Given the description of an element on the screen output the (x, y) to click on. 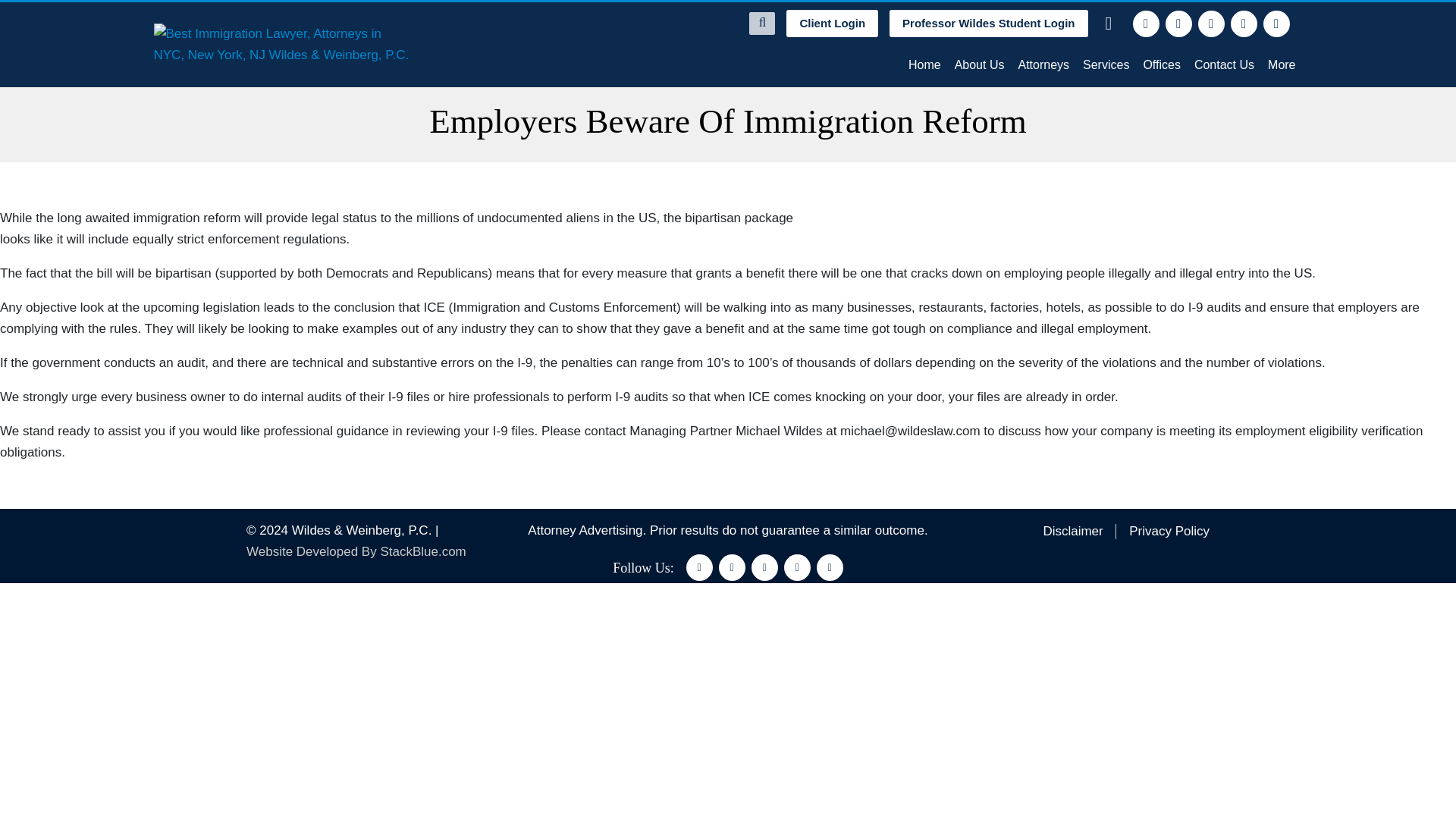
Client Login (831, 22)
Attorneys (1042, 64)
twitter (732, 567)
Professor Wildes Student Login (988, 22)
facebook (1145, 23)
linkedin (1211, 23)
youtube (1276, 23)
About Us (979, 64)
linkedin (764, 567)
Home (924, 64)
instagram (797, 567)
youtube (829, 567)
twitter (1177, 23)
facebook (699, 567)
Services (1105, 64)
